Given the description of an element on the screen output the (x, y) to click on. 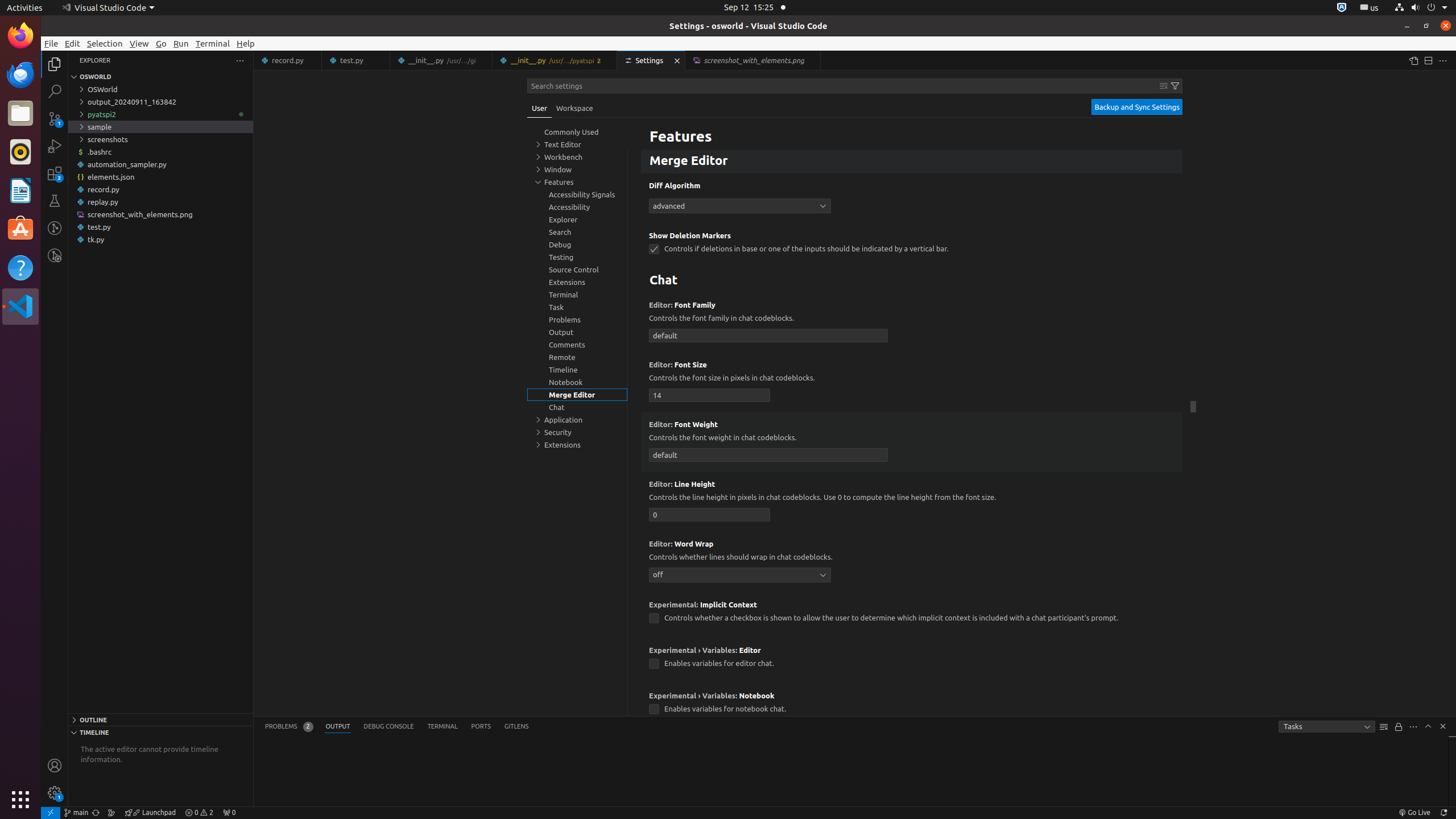
Timeline, group Element type: tree-item (577, 369)
Clear Output Element type: push-button (1383, 726)
Notifications Element type: push-button (1443, 812)
Application, group Element type: tree-item (577, 419)
OSWorld Element type: tree-item (160, 89)
